Given the description of an element on the screen output the (x, y) to click on. 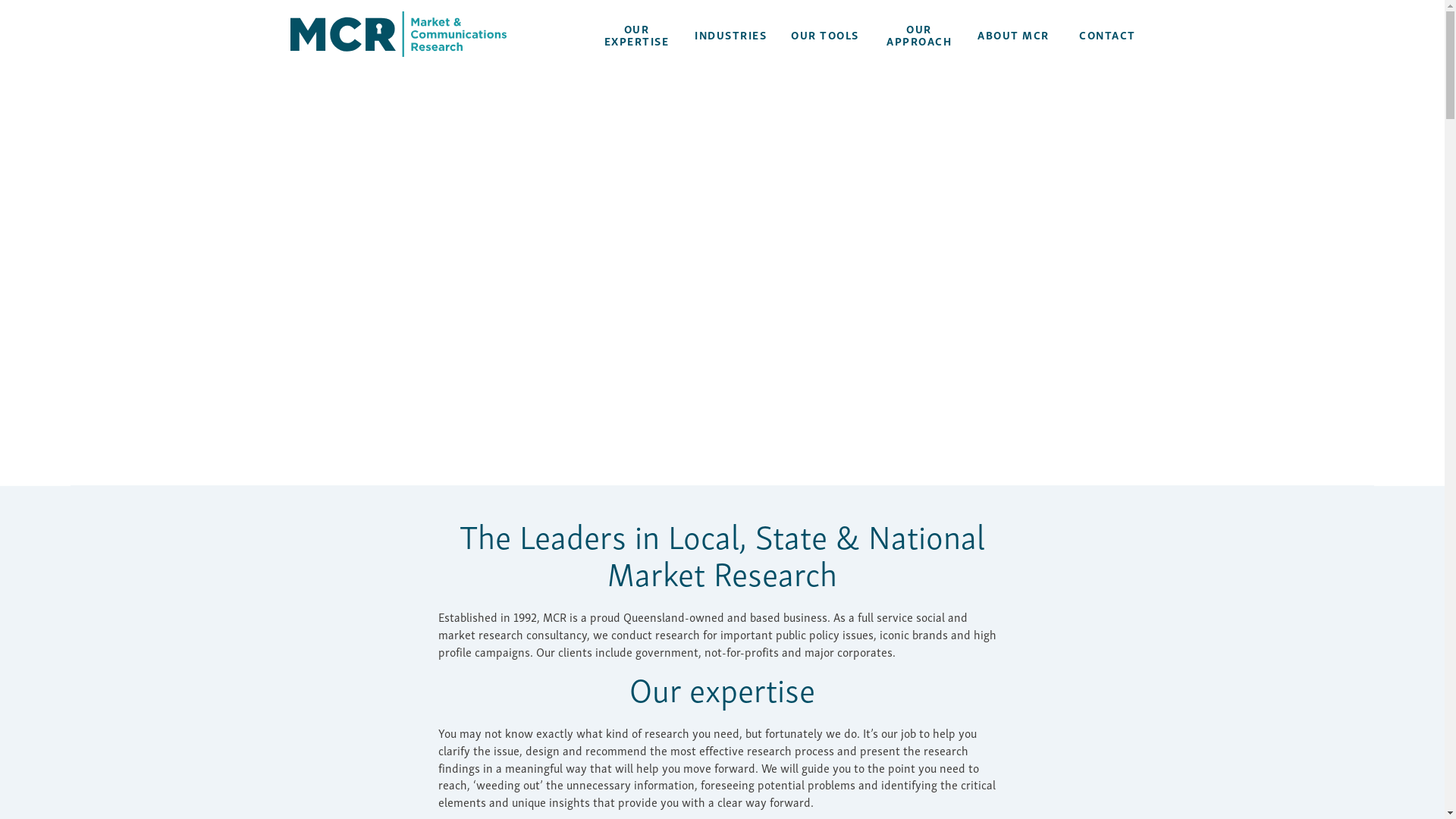
INDUSTRIES Element type: text (731, 34)
ABOUT MCR Element type: text (1013, 34)
OUR TOOLS Element type: text (825, 34)
OUR EXPERTISE Element type: text (636, 34)
OUR APPROACH Element type: text (919, 34)
CONTACT Element type: text (1107, 34)
